Given the description of an element on the screen output the (x, y) to click on. 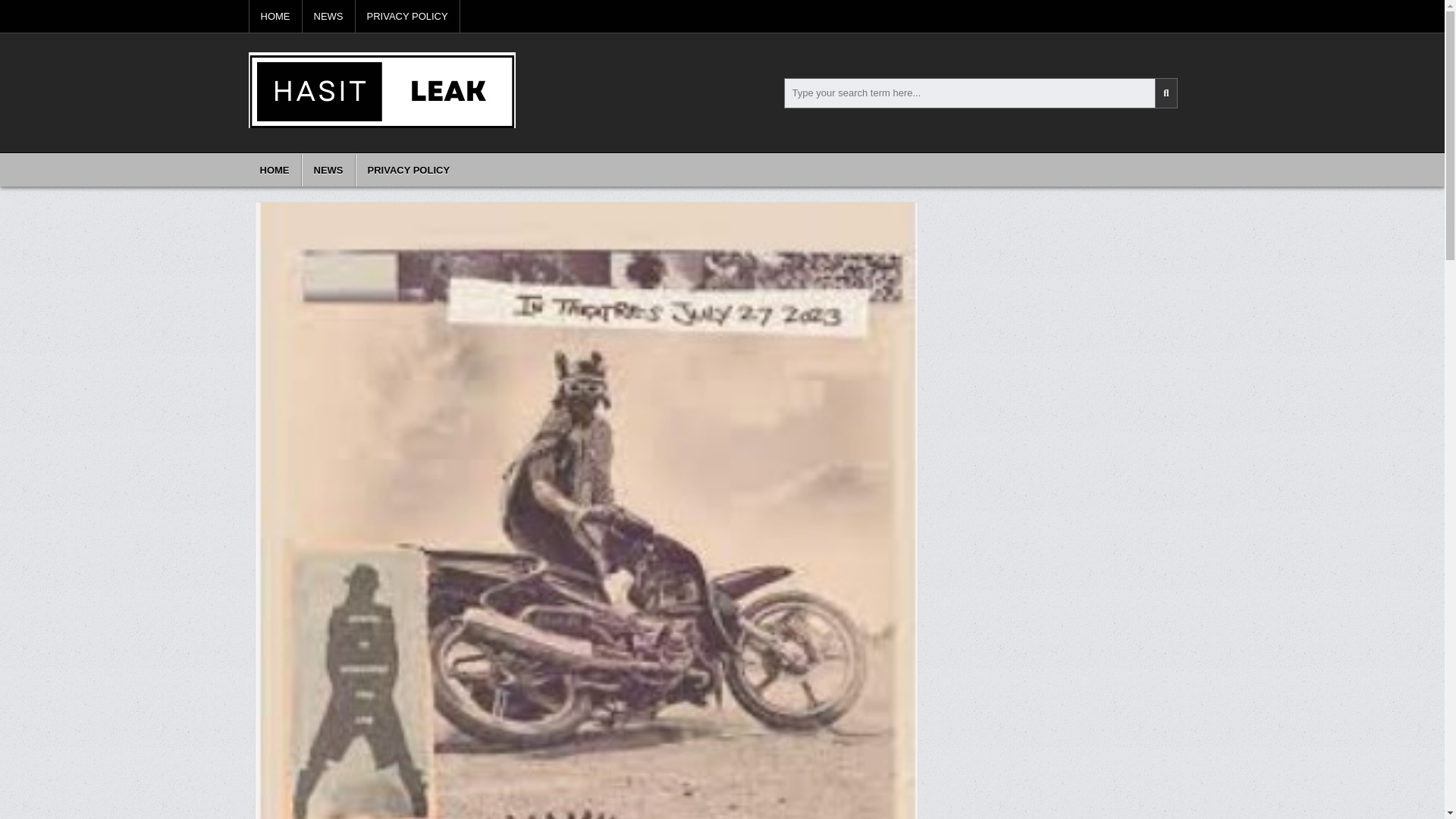
HOME (275, 16)
PRIVACY POLICY (408, 169)
PRIVACY POLICY (407, 16)
Hasitleak (281, 144)
HOME (274, 169)
NEWS (328, 16)
NEWS (328, 169)
